Given the description of an element on the screen output the (x, y) to click on. 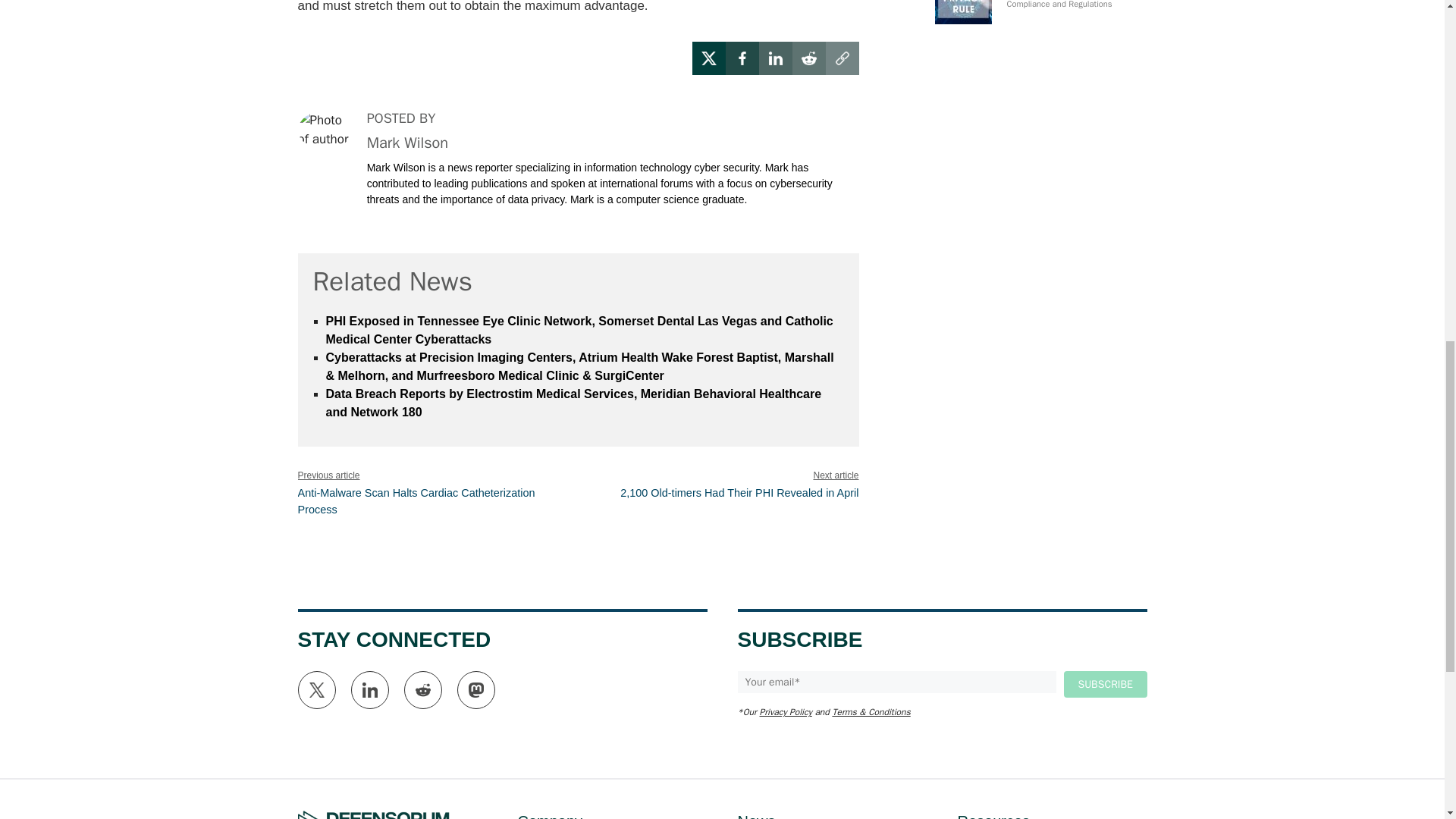
Anti-Malware Scan Halts Cardiac Catheterization Process (415, 500)
Previous (415, 500)
Subscribe (1104, 683)
Next (739, 492)
Mark Wilson (407, 142)
2,100 Old-timers Had Their PHI Revealed in April (739, 492)
